Given the description of an element on the screen output the (x, y) to click on. 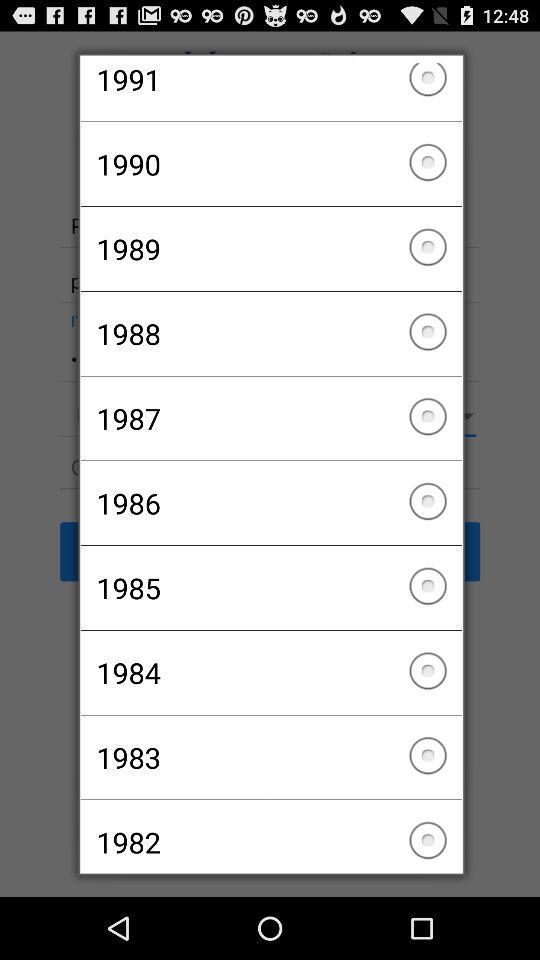
flip to 1982 icon (270, 833)
